Given the description of an element on the screen output the (x, y) to click on. 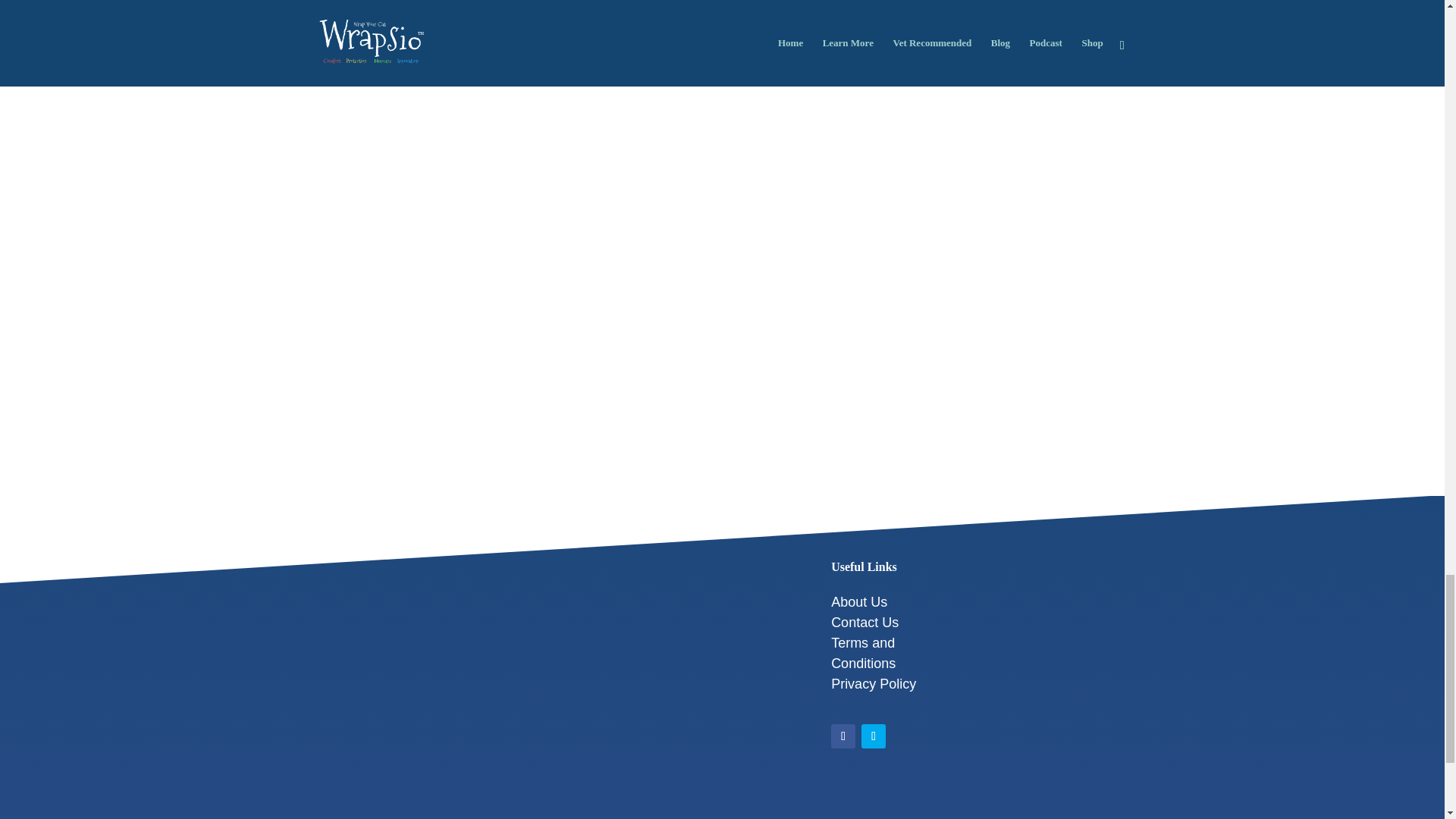
Privacy Policy (873, 683)
Follow on Facebook (843, 735)
Terms and Conditions (863, 652)
Contact Us (864, 622)
Follow on Twitter (873, 735)
About Us (858, 601)
